Given the description of an element on the screen output the (x, y) to click on. 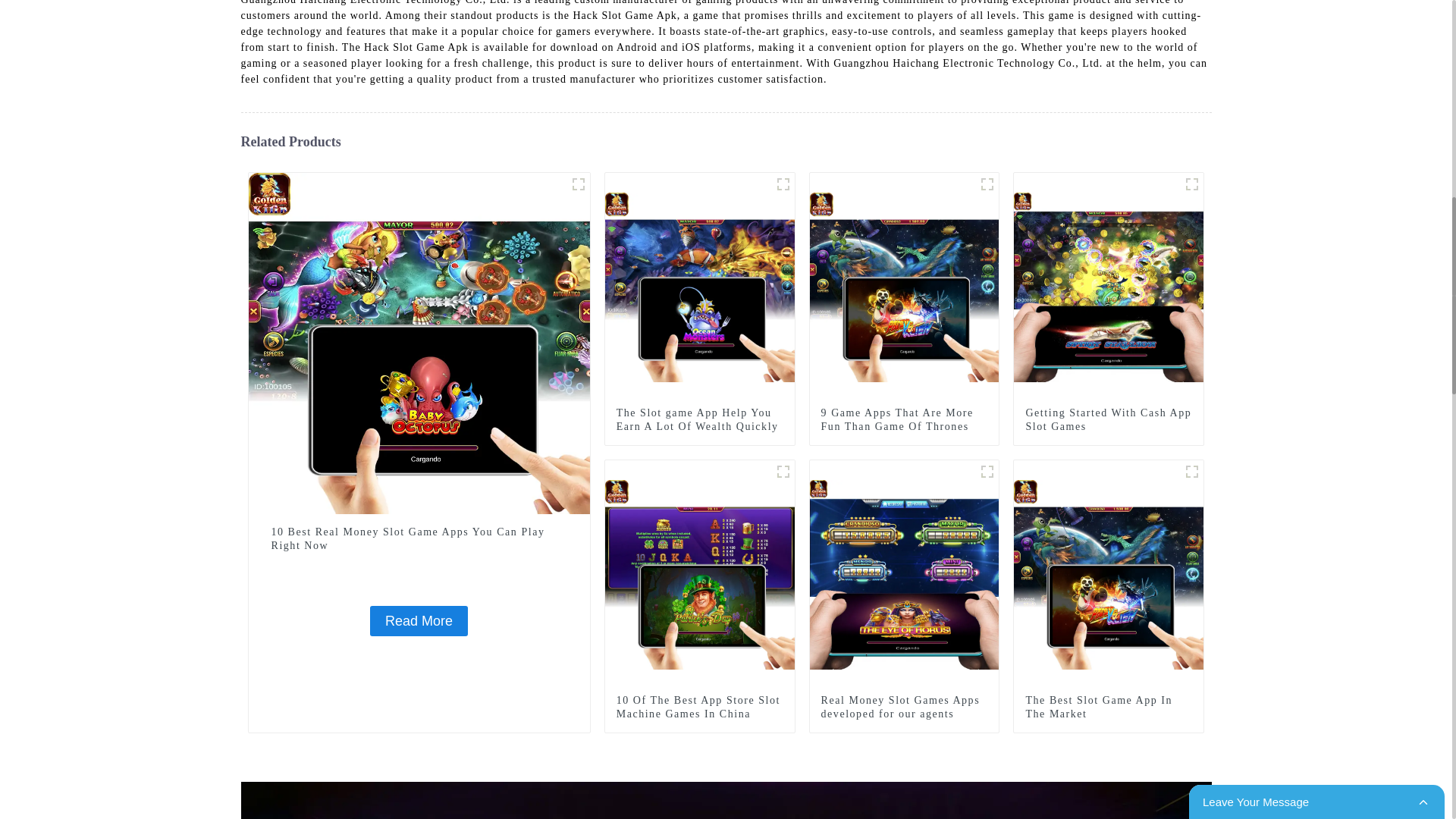
Read More (418, 621)
Getting Started With Cash App Slot Games (1108, 420)
9 Game Apps That Are More Fun Than Game Of Thrones Slots (904, 426)
10 Of The Best App Store Slot Machine Games In China (699, 573)
10 Of The Best App Store Slot Machine Games In China (699, 707)
Getting Started With Cash App Slot Games (1108, 420)
The Slot game App Help You Earn A Lot Of Wealth Quickly (699, 420)
The Slot game App Help You Earn A Lot Of Wealth Quickly (699, 286)
9 Game Apps That Are More Fun Than Game Of Thrones Slots (903, 286)
10 Of The Best App Store Slot Machine Games In China (699, 707)
